Given the description of an element on the screen output the (x, y) to click on. 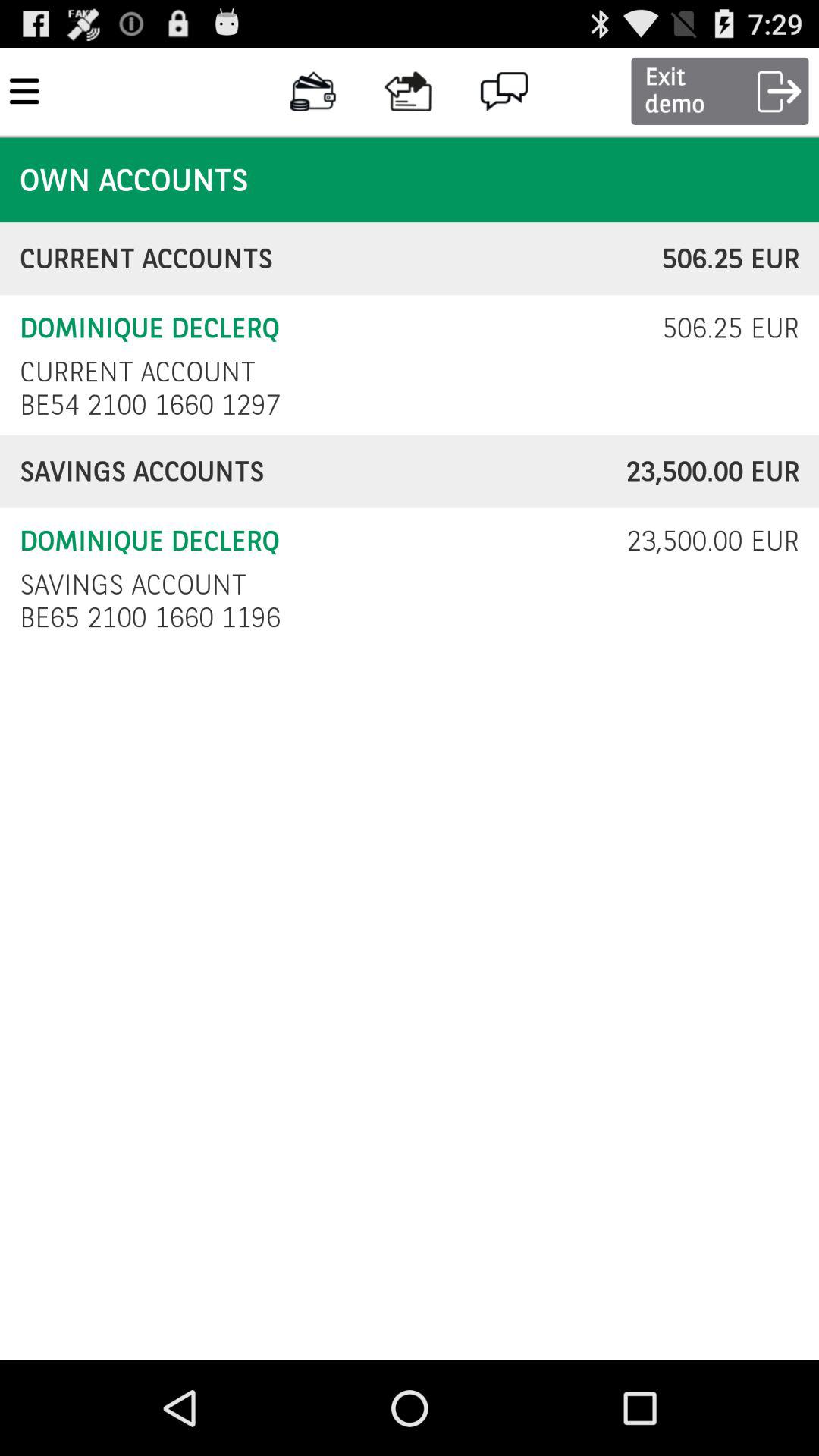
choose be65 2100 1660 checkbox (153, 617)
